Given the description of an element on the screen output the (x, y) to click on. 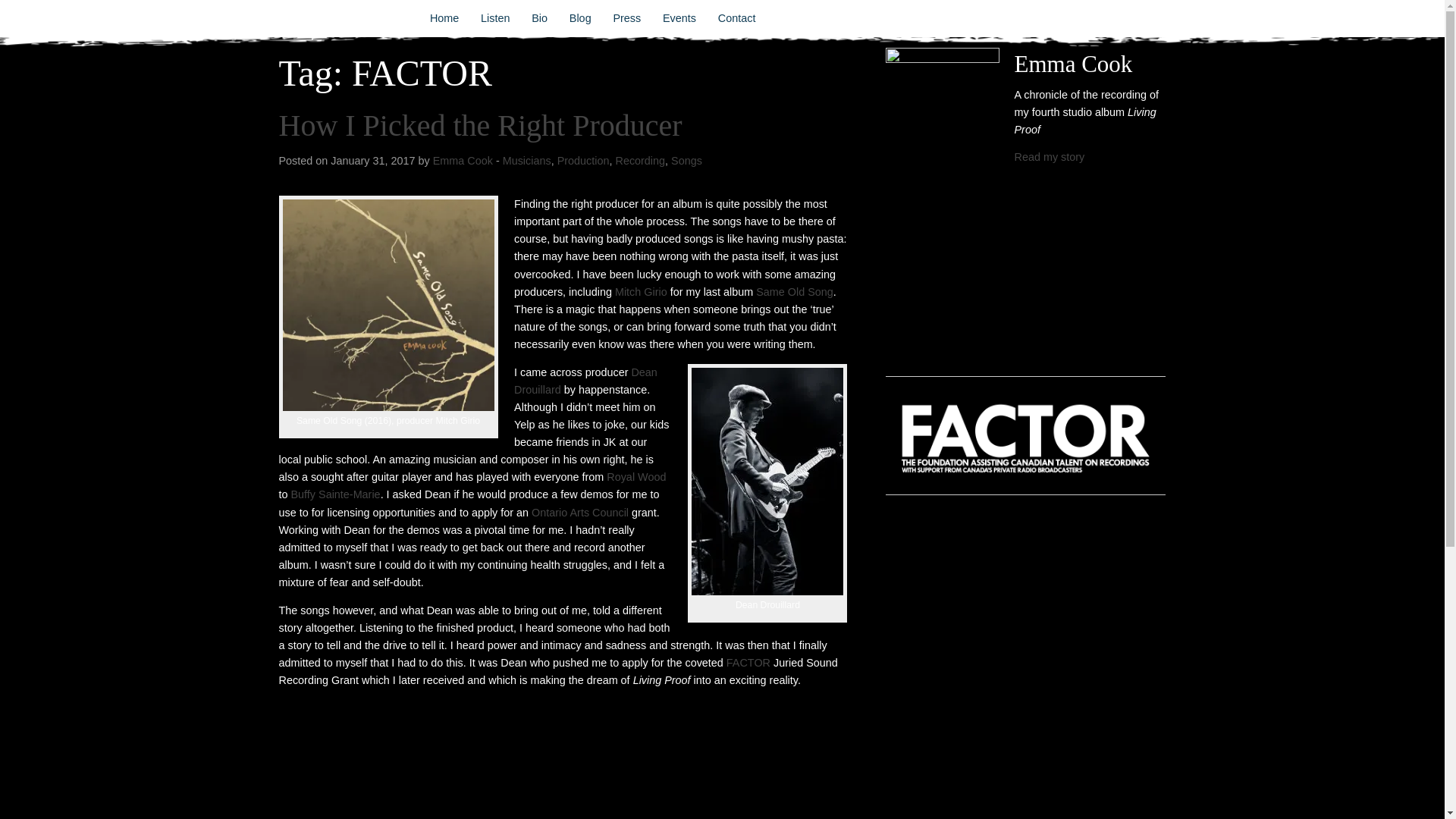
Contact (735, 17)
How I Picked the Right Producer (480, 125)
FACTOR (748, 662)
Ontario Arts Council (581, 512)
Events (679, 17)
Blog (579, 17)
Royal Wood (636, 476)
Production (583, 160)
How I Picked the Right Producer (480, 125)
Songs (686, 160)
Home (443, 17)
Musicians (526, 160)
Posts by Emma Cook (462, 160)
Press (627, 17)
Buffy Sainte-Marie (335, 494)
